Given the description of an element on the screen output the (x, y) to click on. 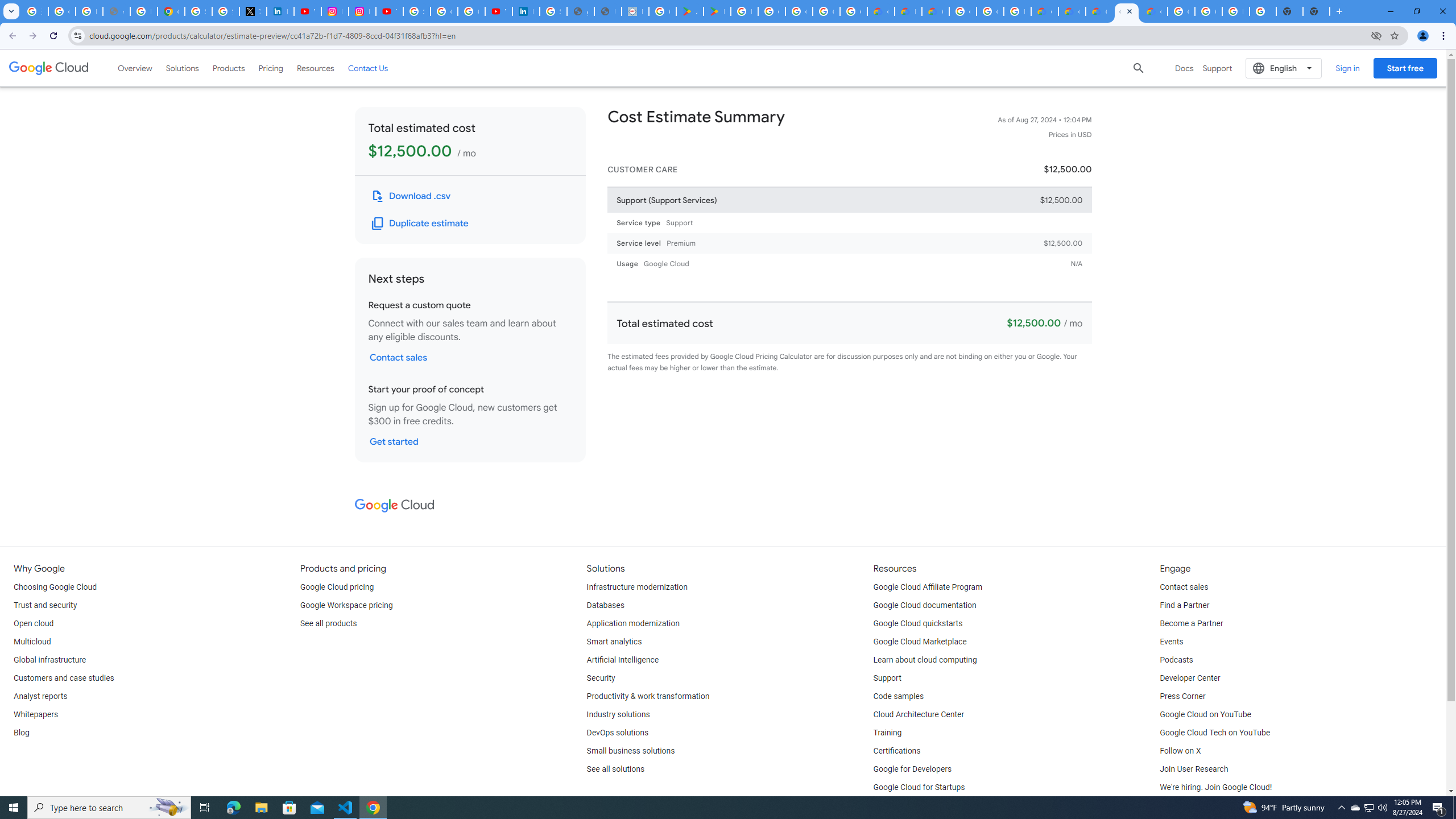
Google Cloud Platform (1208, 11)
Support (887, 678)
Infrastructure modernization (637, 587)
YouTube Content Monetization Policies - How YouTube Works (307, 11)
Google Cloud pricing (336, 587)
Download .csv file (412, 196)
Google for Developers (912, 769)
Choosing Google Cloud (55, 587)
